Given the description of an element on the screen output the (x, y) to click on. 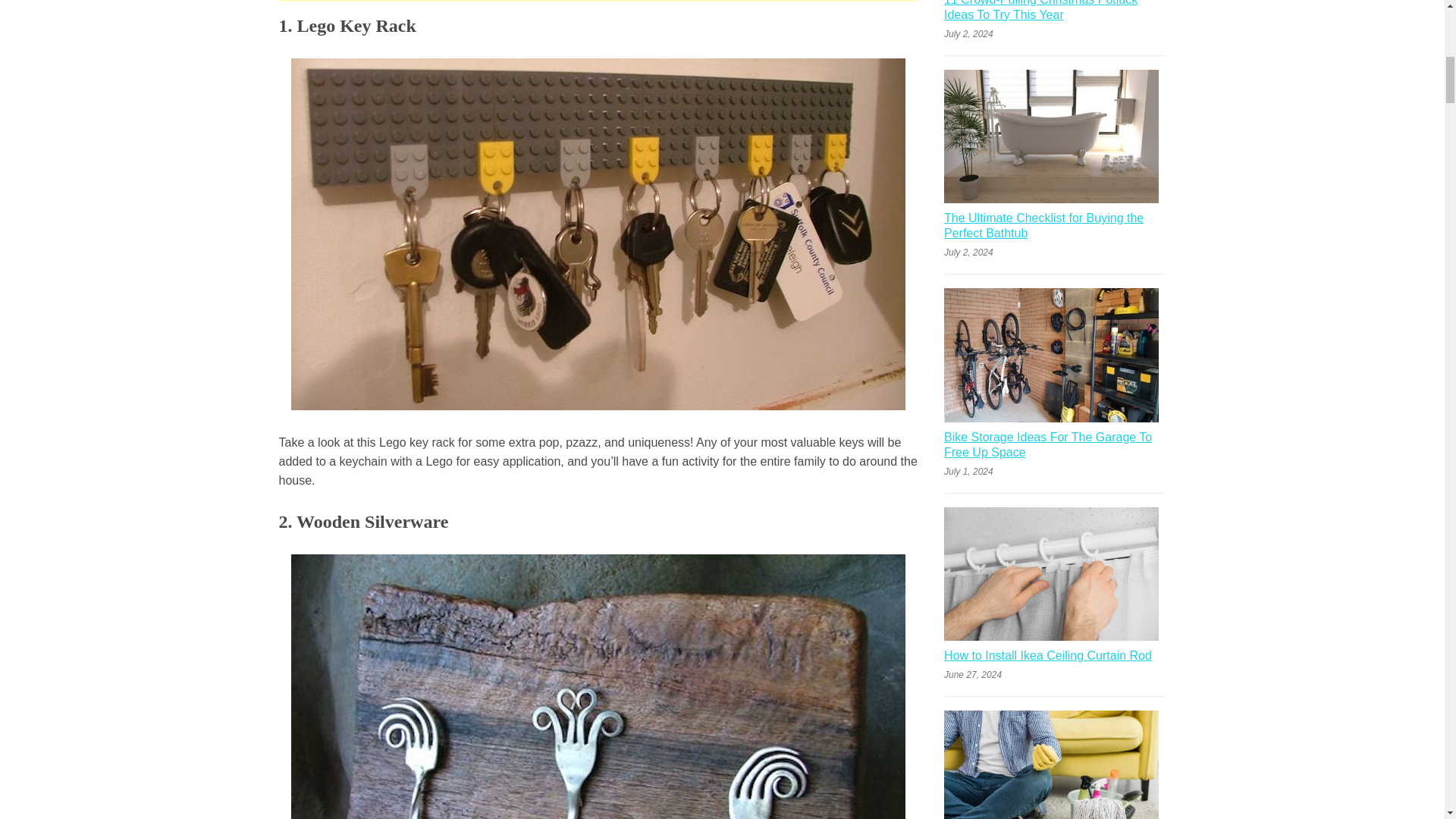
Bike Storage Ideas For The Garage To Free Up Space (1054, 446)
How to Install Ikea Ceiling Curtain Rod (1047, 657)
The Ultimate Checklist for Buying the Perfect Bathtub (1054, 227)
11 Crowd-Pulling Christmas Potluck Ideas To Try This Year (1054, 13)
